Given the description of an element on the screen output the (x, y) to click on. 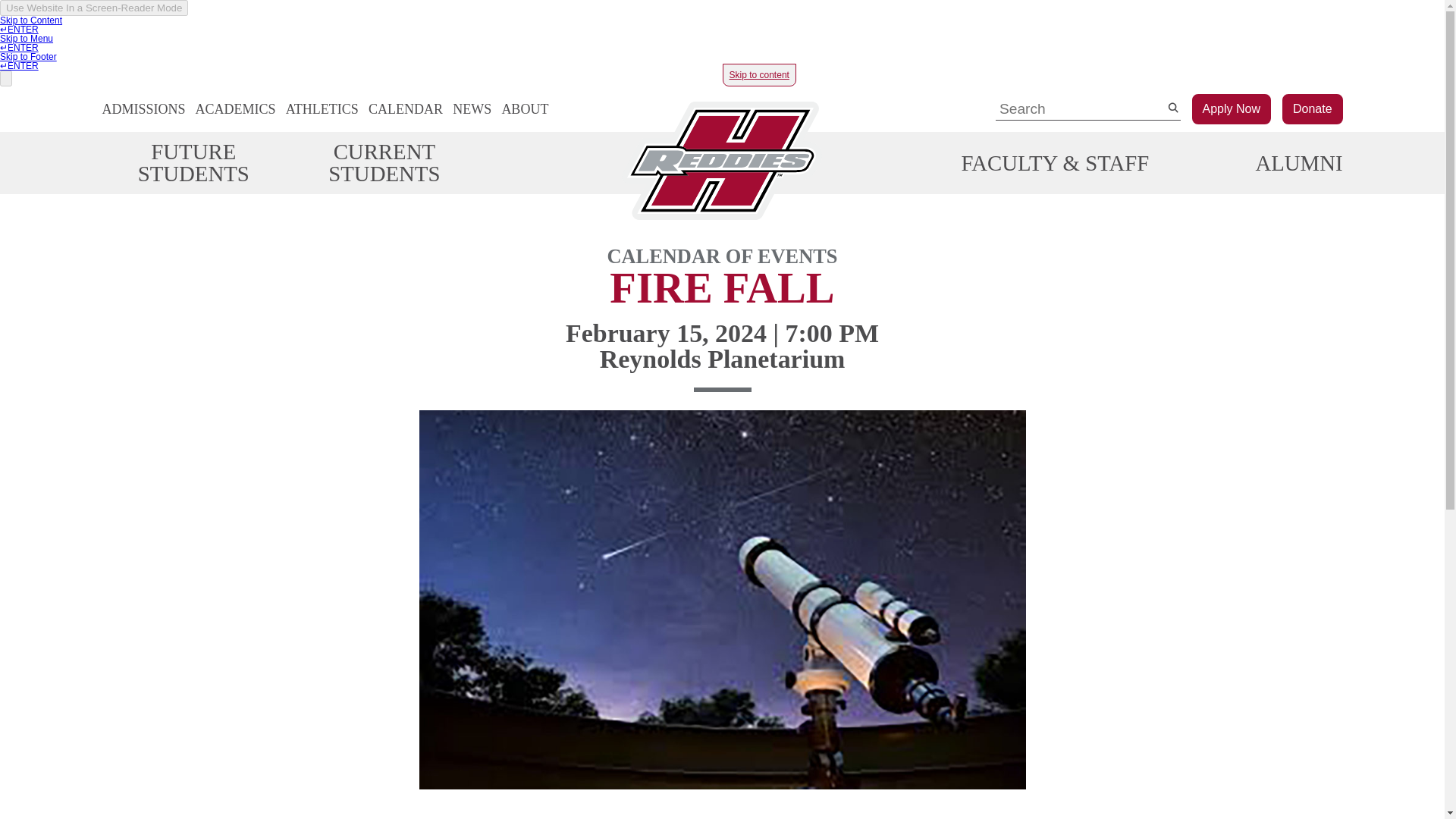
ATHLETICS (321, 109)
Athletics (321, 109)
Apply Now (1231, 109)
ABOUT (524, 109)
CALENDAR OF EVENTS (722, 259)
Donate (1312, 109)
Skip to content (758, 74)
Home (721, 162)
ALUMNI (1298, 163)
FUTURE STUDENTS (193, 162)
Apply Now (1231, 109)
CURRENT STUDENTS (384, 162)
Search Button (1172, 108)
CALENDAR (405, 109)
NEWS (472, 109)
